Given the description of an element on the screen output the (x, y) to click on. 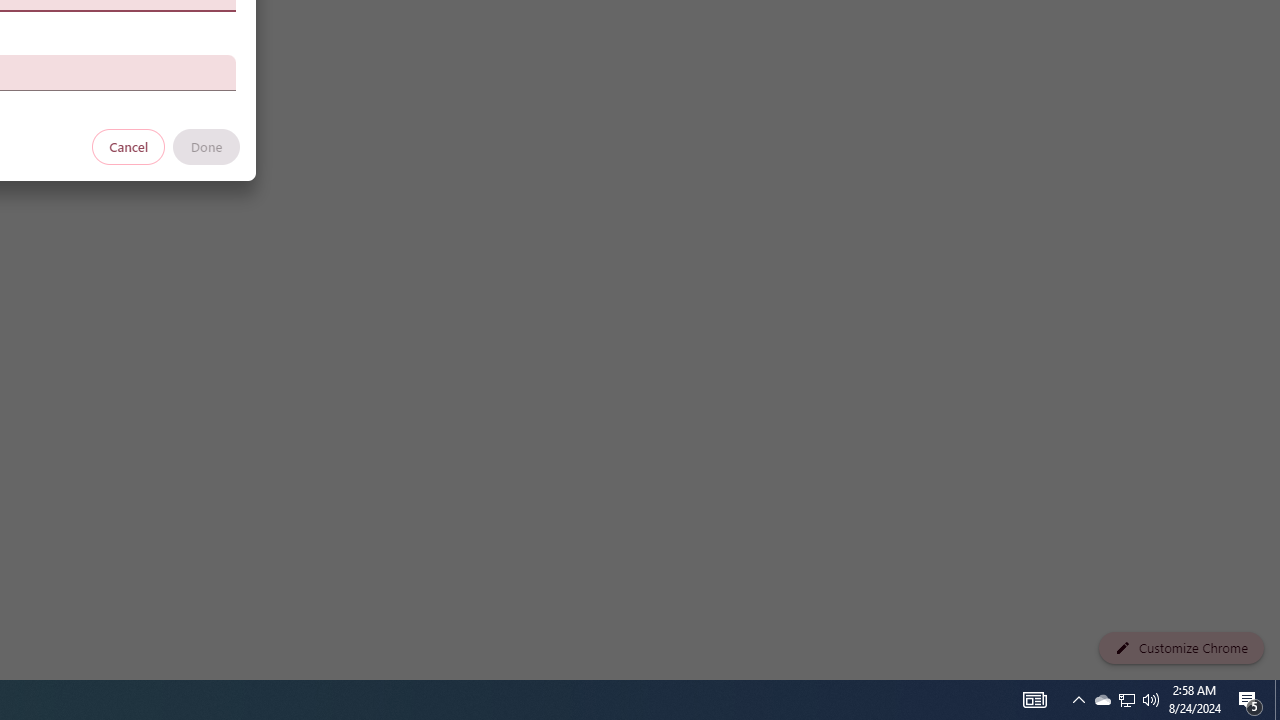
Cancel (129, 146)
Done (206, 146)
